Given the description of an element on the screen output the (x, y) to click on. 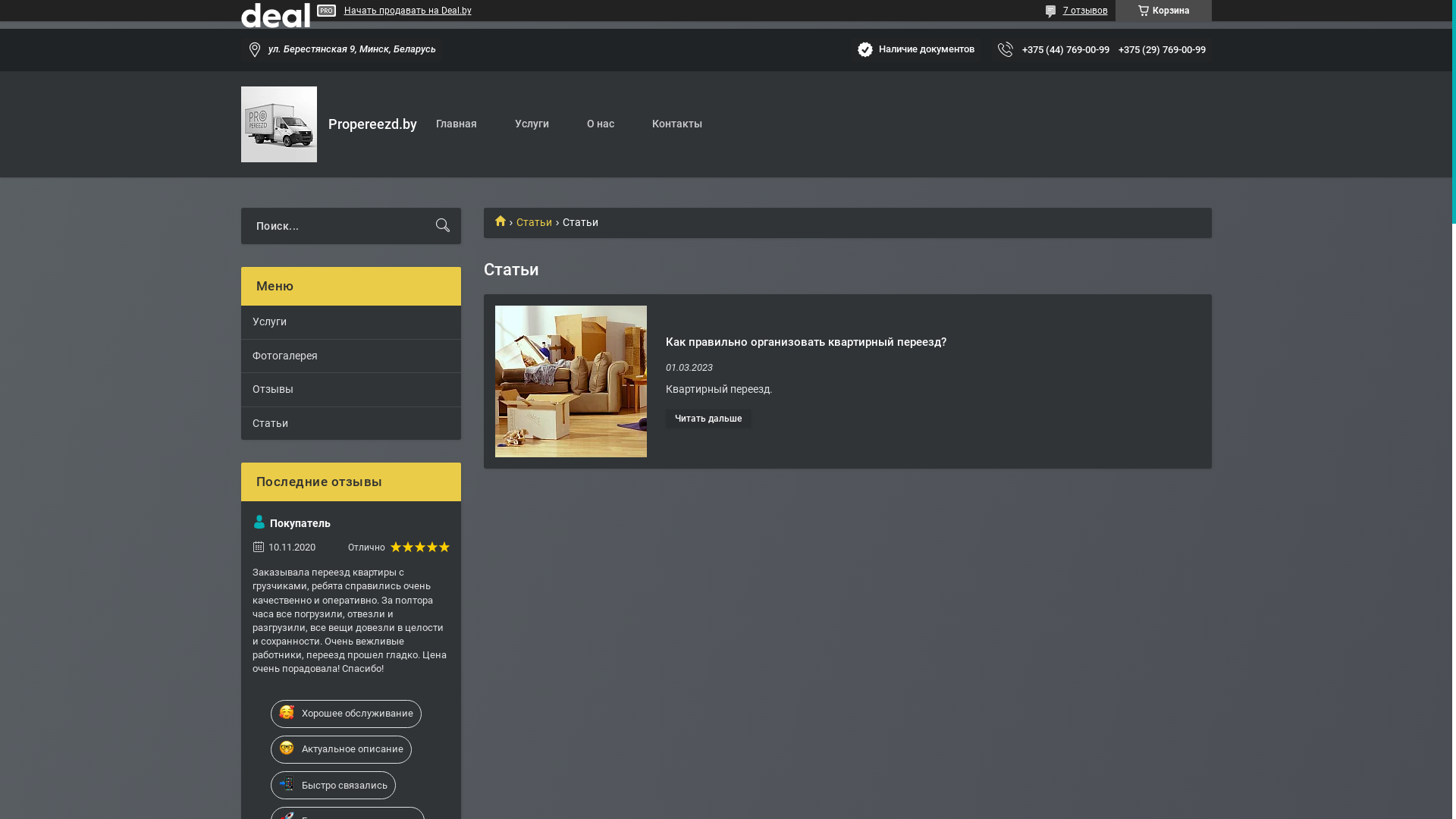
Propereezd.by Element type: hover (278, 124)
Propereezd.by Element type: hover (504, 220)
